Given the description of an element on the screen output the (x, y) to click on. 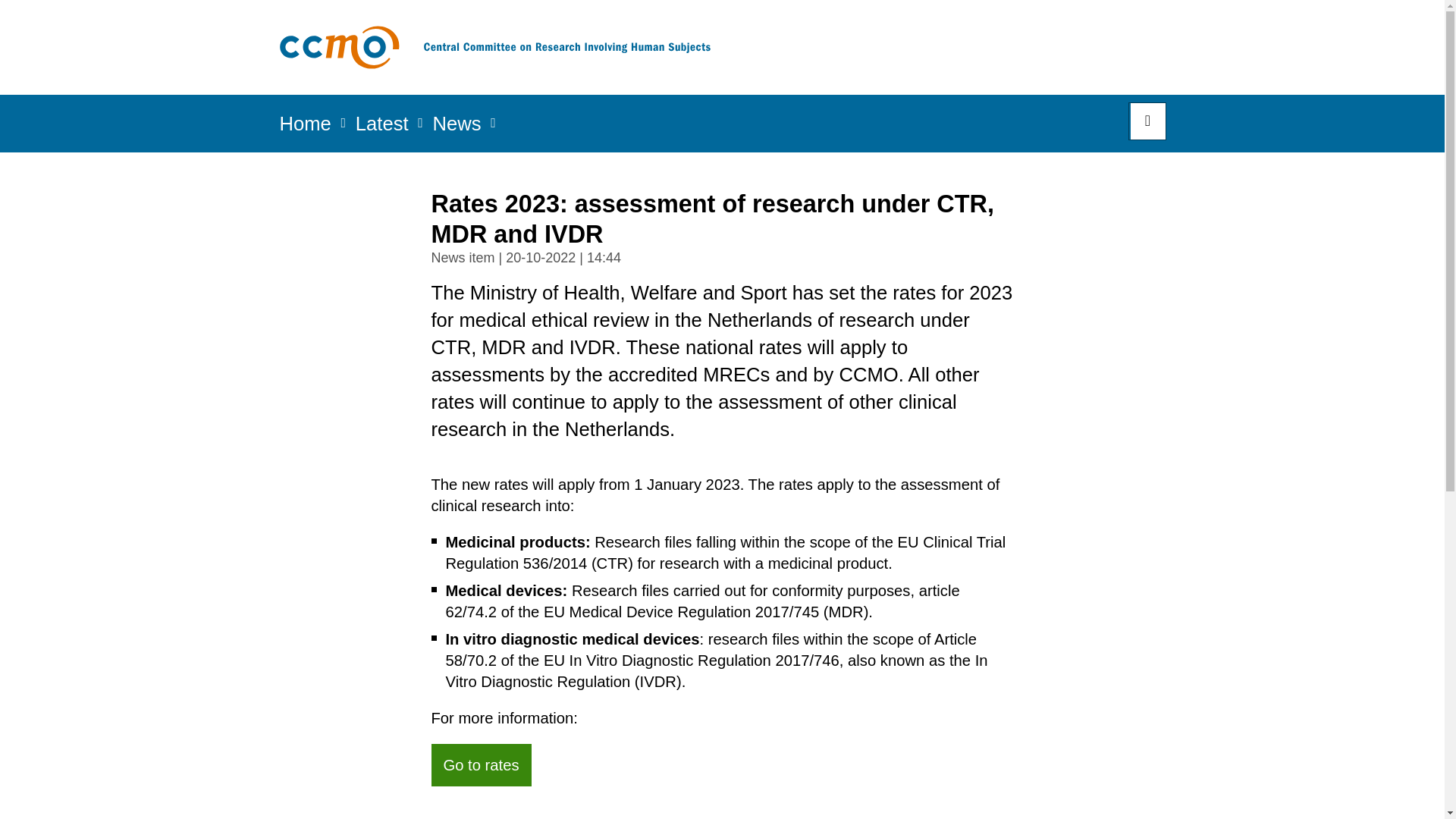
Go to rates (480, 764)
Open search box (1146, 121)
Latest (382, 128)
Open search box (1146, 121)
Home (304, 128)
News (456, 128)
